Given the description of an element on the screen output the (x, y) to click on. 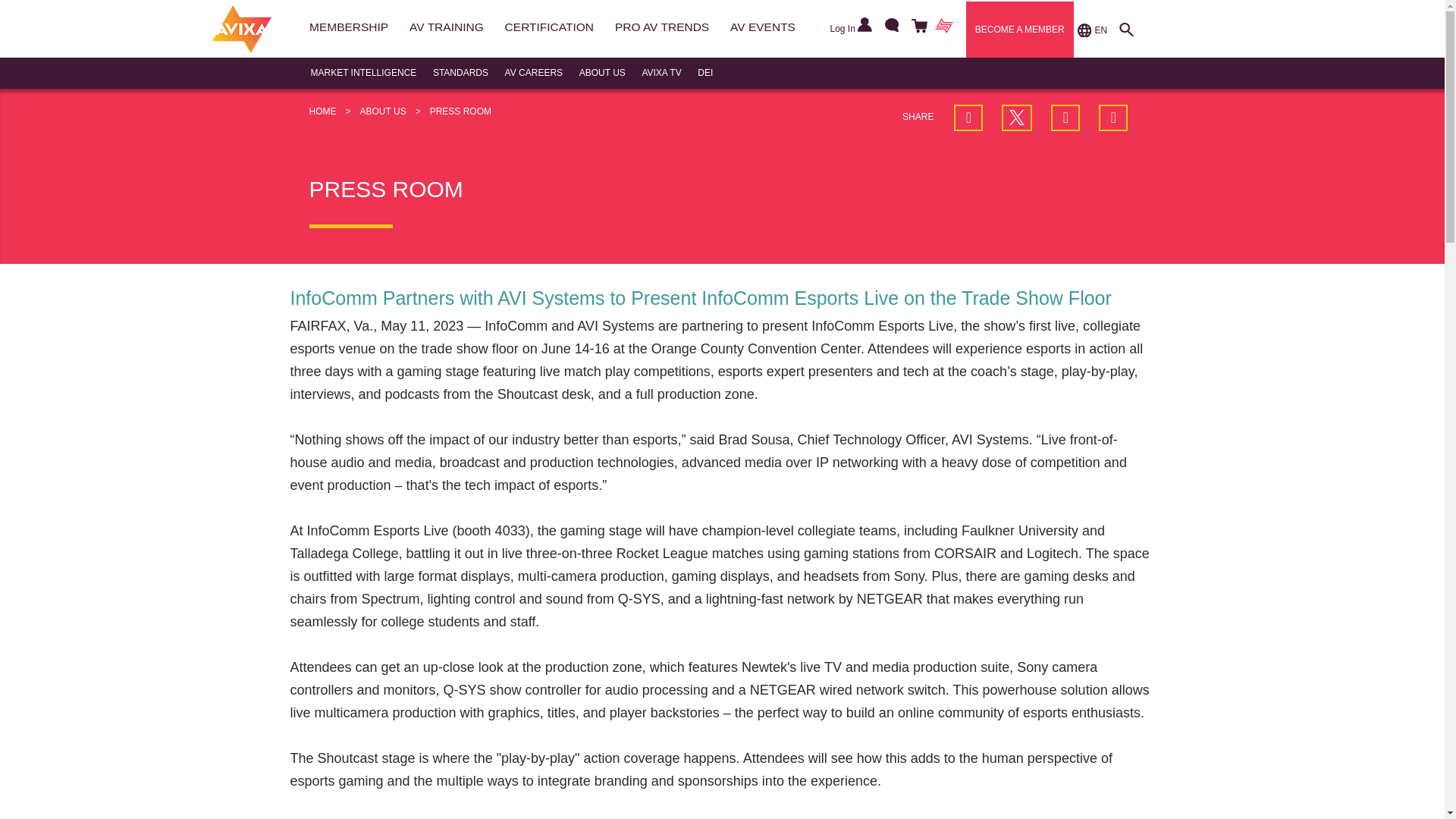
Contact (889, 26)
Join the AVIXA Xchange (943, 27)
Shop (916, 27)
Tell a friend (1112, 117)
